Given the description of an element on the screen output the (x, y) to click on. 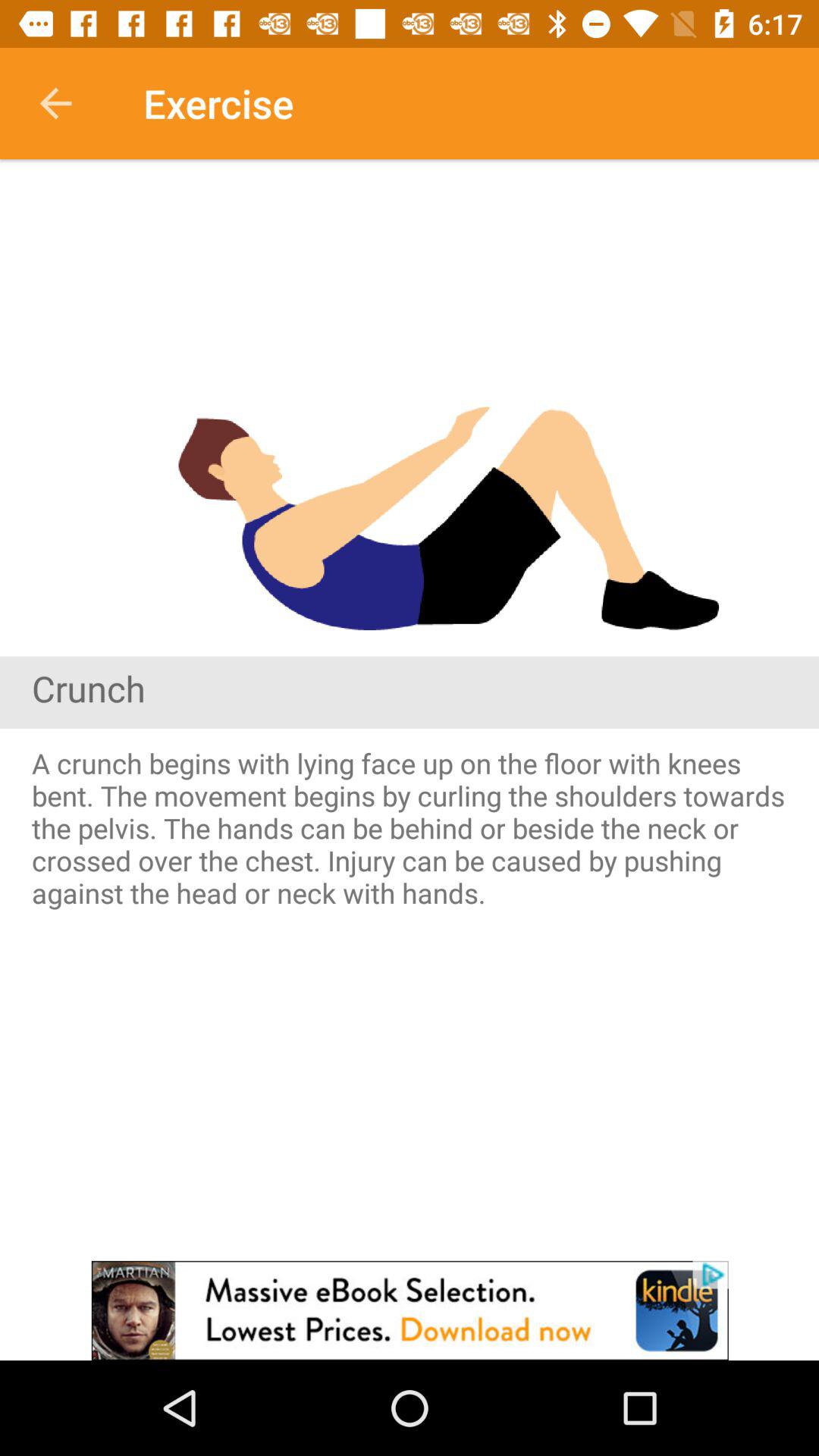
open advertisements (409, 1310)
